Given the description of an element on the screen output the (x, y) to click on. 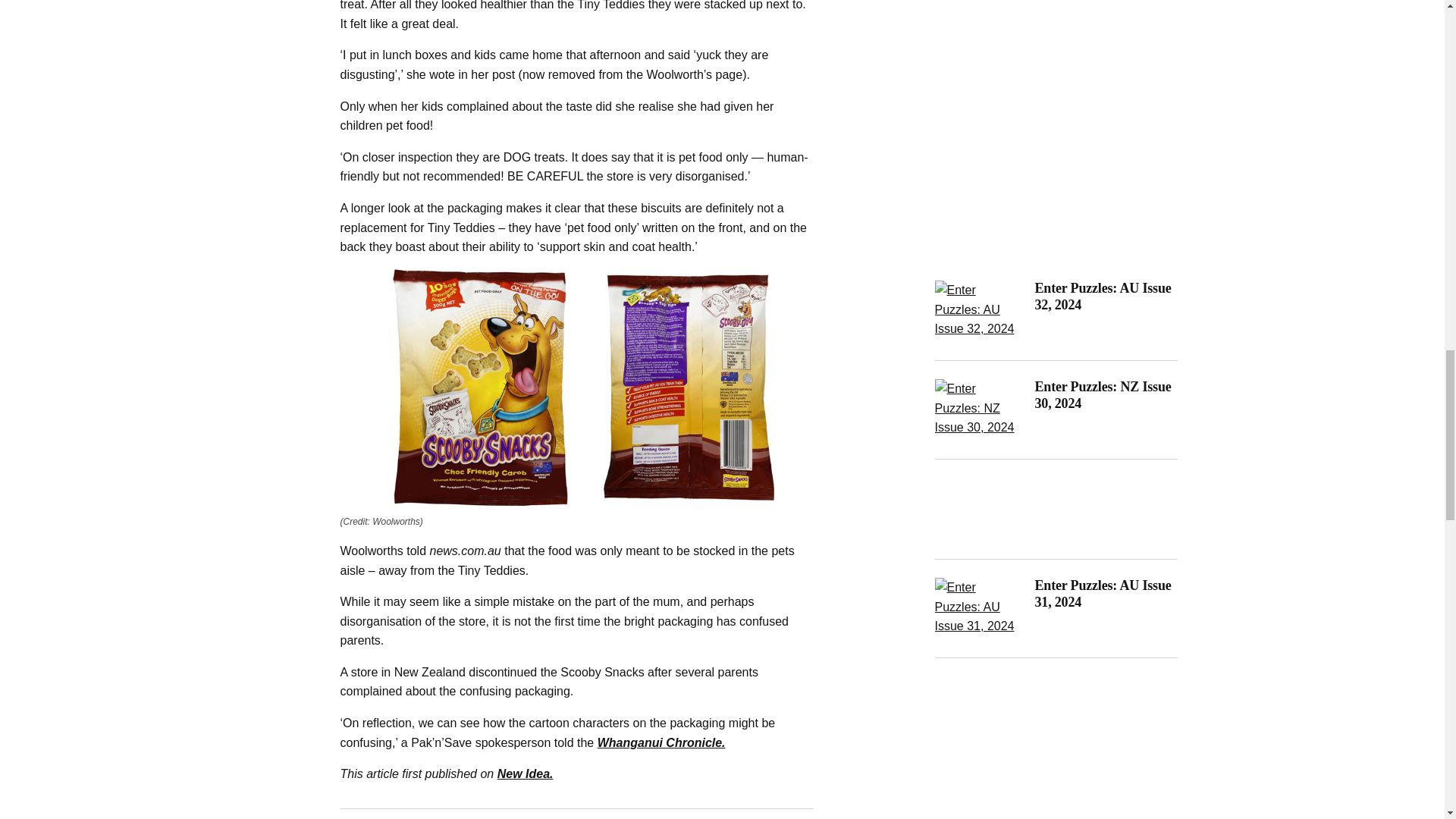
Whanganui (660, 742)
New Idea (525, 773)
